Given the description of an element on the screen output the (x, y) to click on. 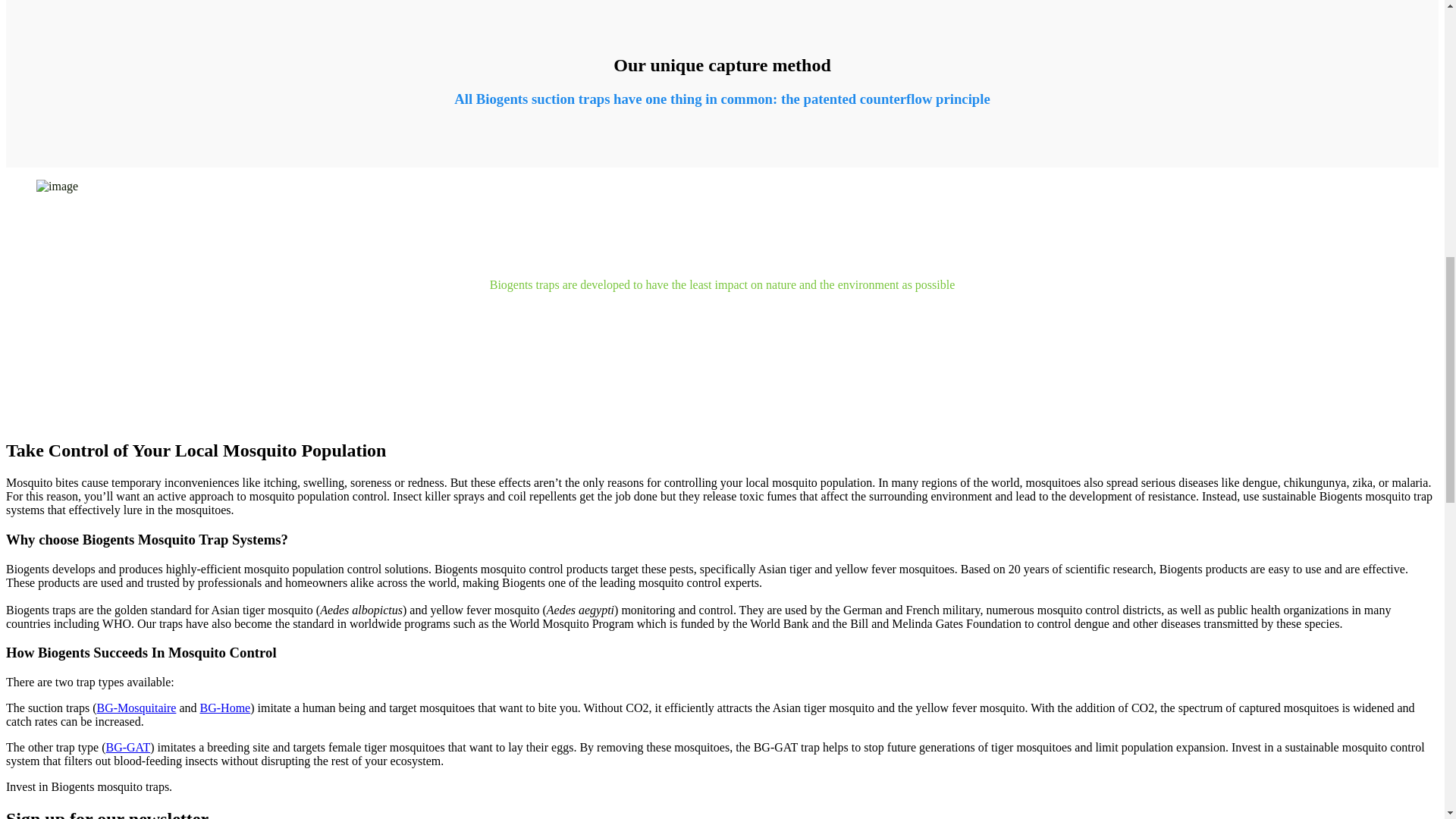
BG-Home (225, 707)
BG-Mosquitaire (136, 707)
BG-GAT (128, 747)
